Given the description of an element on the screen output the (x, y) to click on. 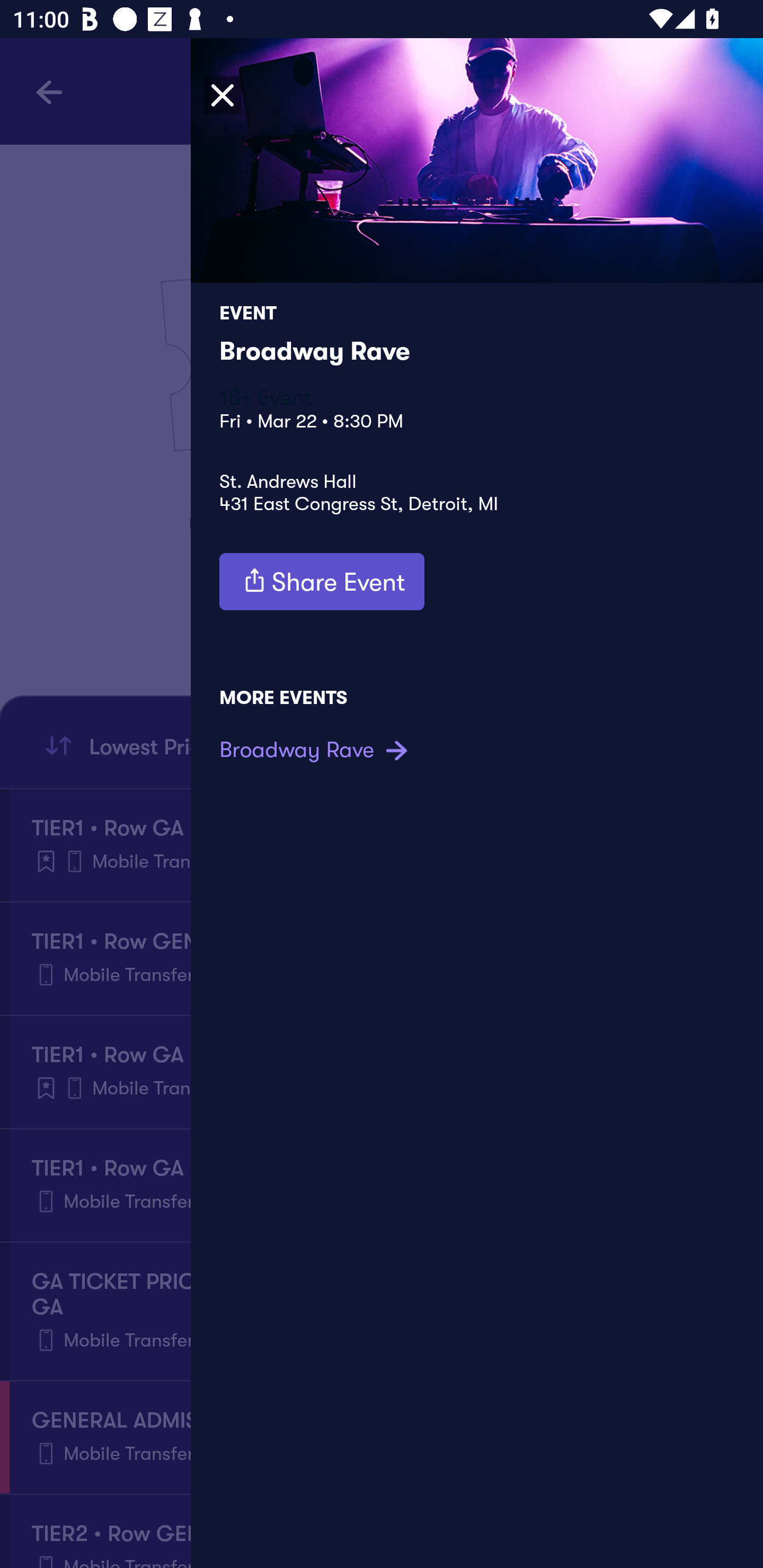
Share Event (321, 581)
Broadway Rave (315, 749)
